Given the description of an element on the screen output the (x, y) to click on. 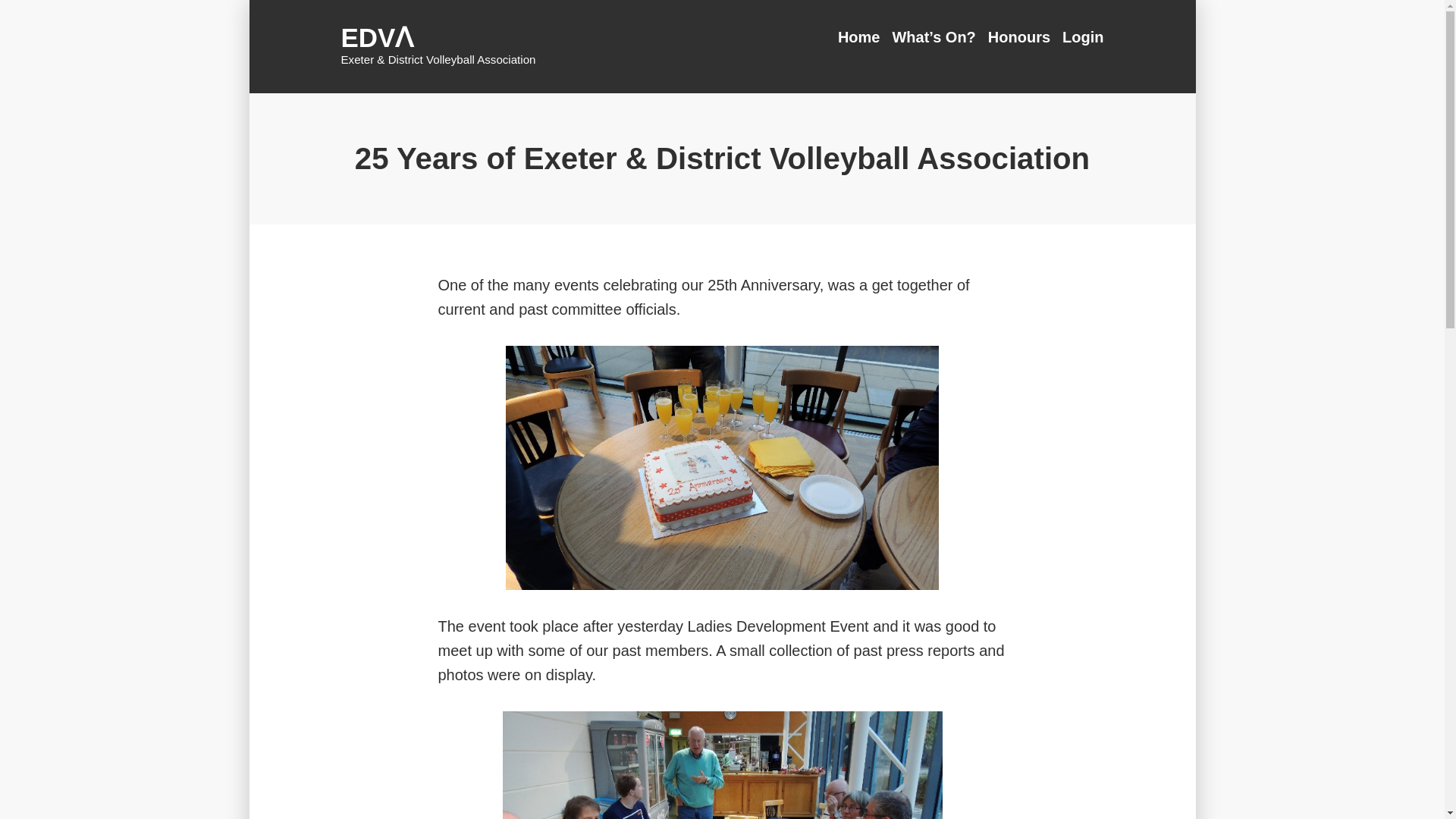
Login (1080, 37)
Home (862, 37)
Home (862, 37)
Honours (1019, 37)
